Given the description of an element on the screen output the (x, y) to click on. 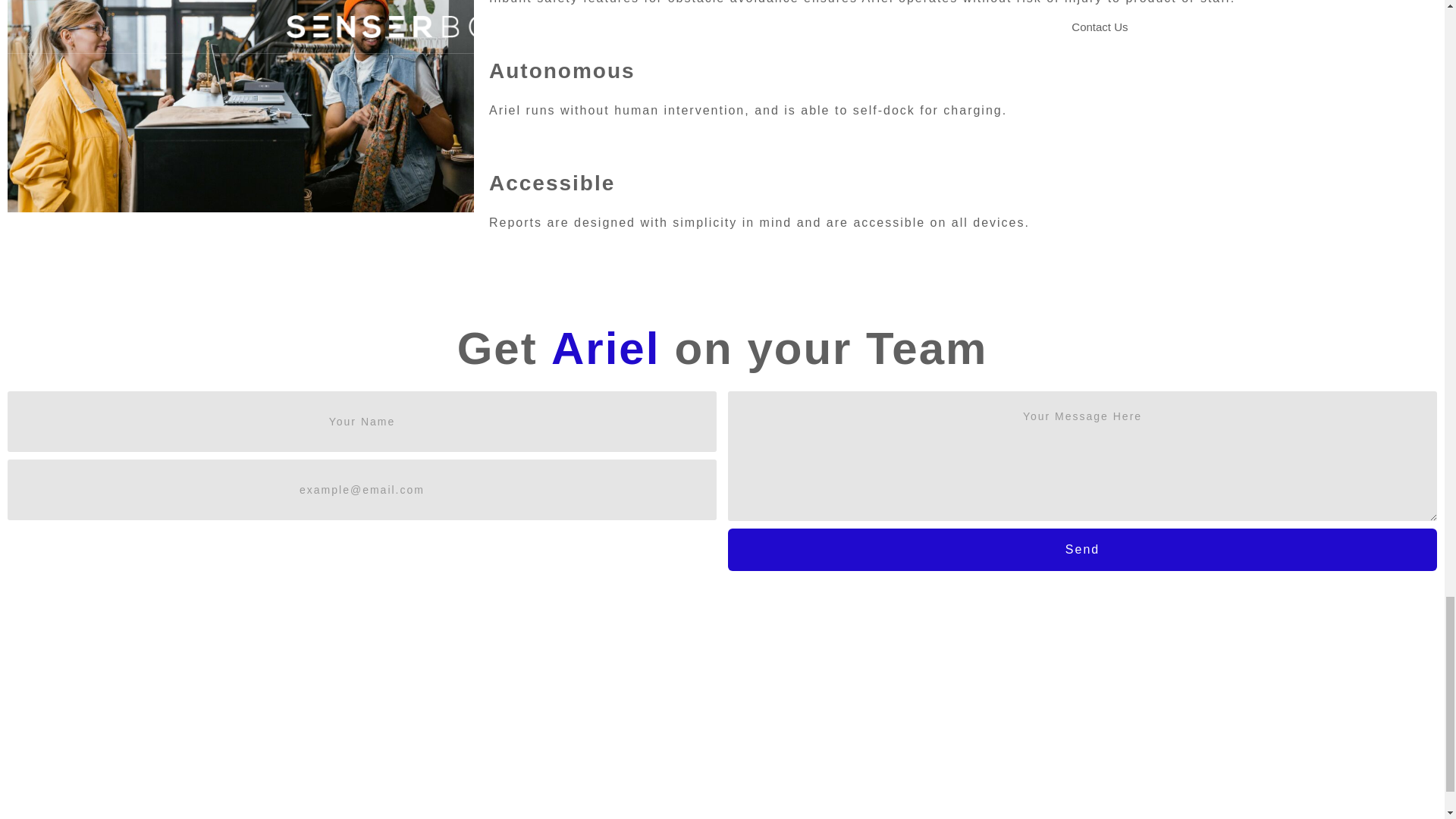
Send (1082, 549)
